Given the description of an element on the screen output the (x, y) to click on. 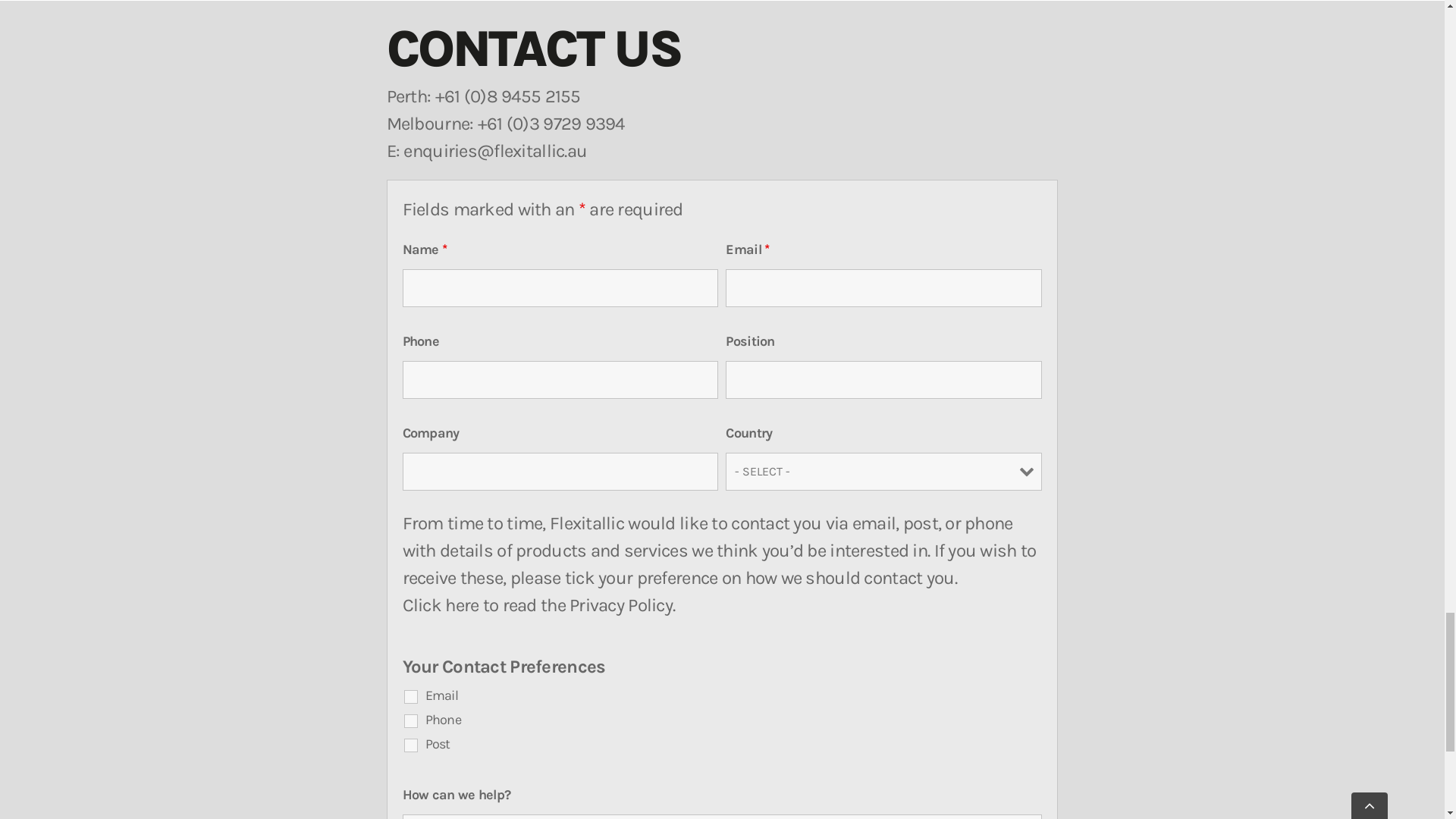
RUBBER HANDBOOK Element type: text (218, 652)
Top Element type: text (84, 476)
Home Element type: text (719, 57)
Approvals Element type: text (611, 225)
Datasheets Element type: text (394, 225)
Contact Element type: text (1096, 57)
Flexitalic_Turkey-temp-bl Element type: hover (109, 40)
Brochures Element type: text (112, 225)
FINGER SAVER GUIDE PT. 1 Element type: text (1210, 652)
PIPE COUPLINGS Element type: text (879, 652)
Flexitallic Global Site Element type: text (1254, 57)
Products Element type: text (838, 57)
SDS Element type: text (506, 225)
PTFE PRODUCTS Element type: text (548, 401)
PRODUCTS & SERVICES Element type: text (218, 401)
FLANGE GUARDS Element type: text (548, 652)
PIPE COUPLINGS Element type: text (879, 401)
Search Element type: hover (1393, 57)
FINGER SAVER GUIDE PT. 2 Element type: text (218, 714)
Resources Element type: text (973, 57)
Email Element type: hover (1392, 14)
User Guides Element type: text (250, 225)
Compliance Element type: text (860, 225)
LinkedIn Element type: hover (1307, 14)
Twitter Element type: hover (1363, 14)
Policies Element type: text (731, 225)
Facebook Element type: hover (1335, 14)
